Given the description of an element on the screen output the (x, y) to click on. 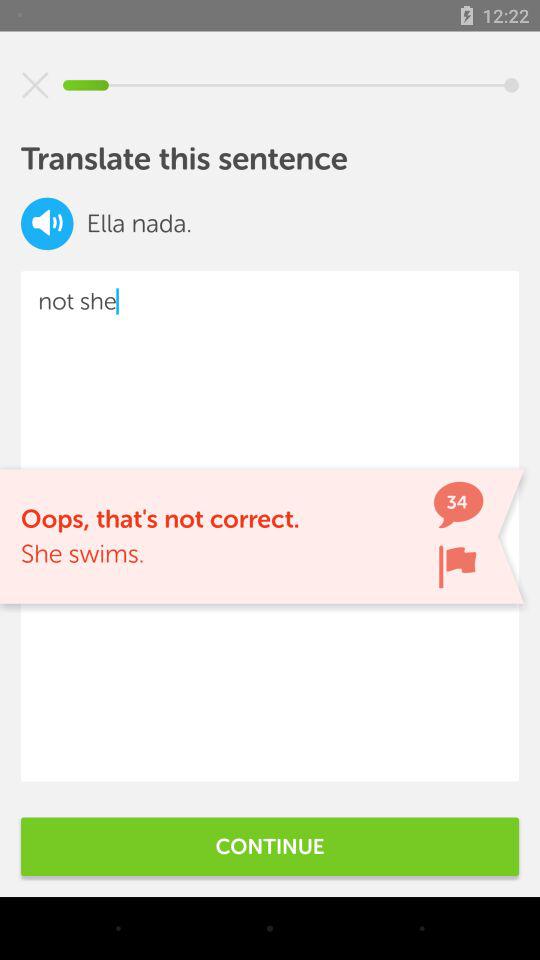
close screen (35, 85)
